Given the description of an element on the screen output the (x, y) to click on. 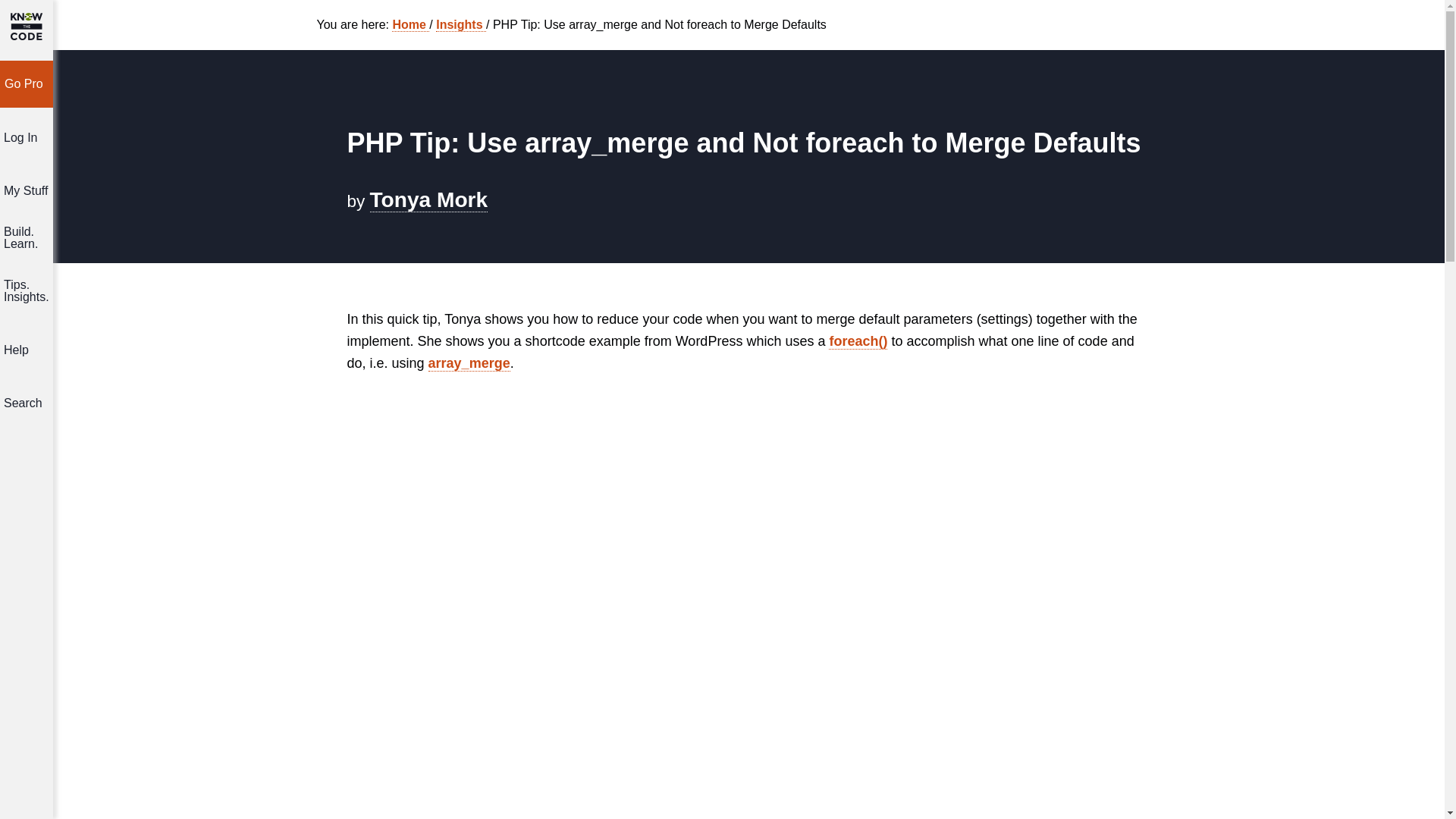
Log In (26, 137)
My Stuff (26, 190)
Help (26, 350)
Tips. Insights. (26, 297)
Search (26, 403)
Know the Code (26, 26)
Build. Learn. (26, 243)
Go Pro (26, 84)
